Given the description of an element on the screen output the (x, y) to click on. 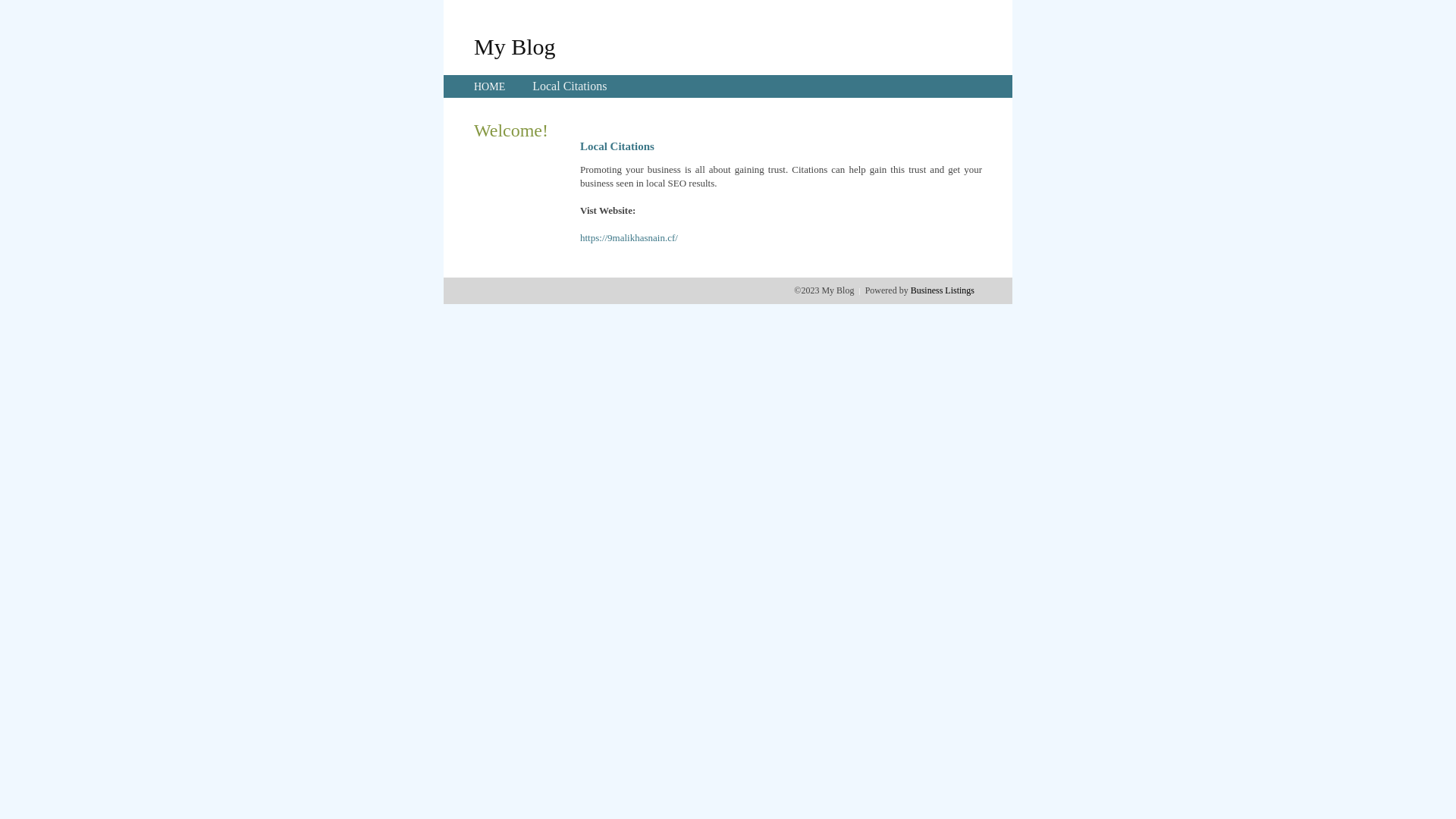
Local Citations Element type: text (569, 85)
HOME Element type: text (489, 86)
Business Listings Element type: text (942, 290)
My Blog Element type: text (514, 46)
https://9malikhasnain.cf/ Element type: text (628, 237)
